Given the description of an element on the screen output the (x, y) to click on. 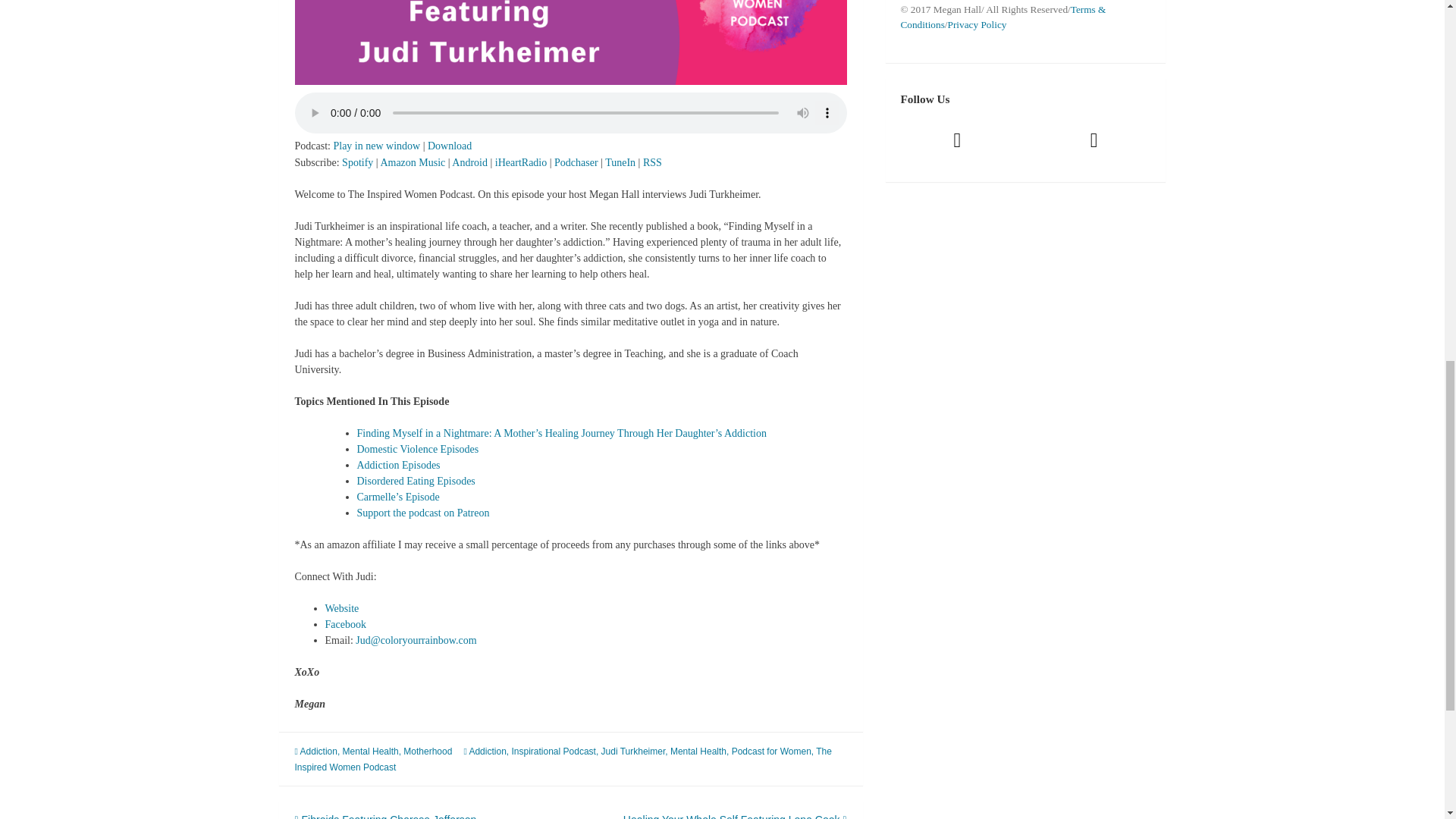
Support the podcast on Patreon (422, 512)
Spotify (357, 162)
Subscribe on Android (469, 162)
RSS (652, 162)
Subscribe on Spotify (357, 162)
Podcast for Women (771, 751)
Subscribe via RSS (652, 162)
Android (469, 162)
TuneIn (619, 162)
Amazon Music (412, 162)
